Given the description of an element on the screen output the (x, y) to click on. 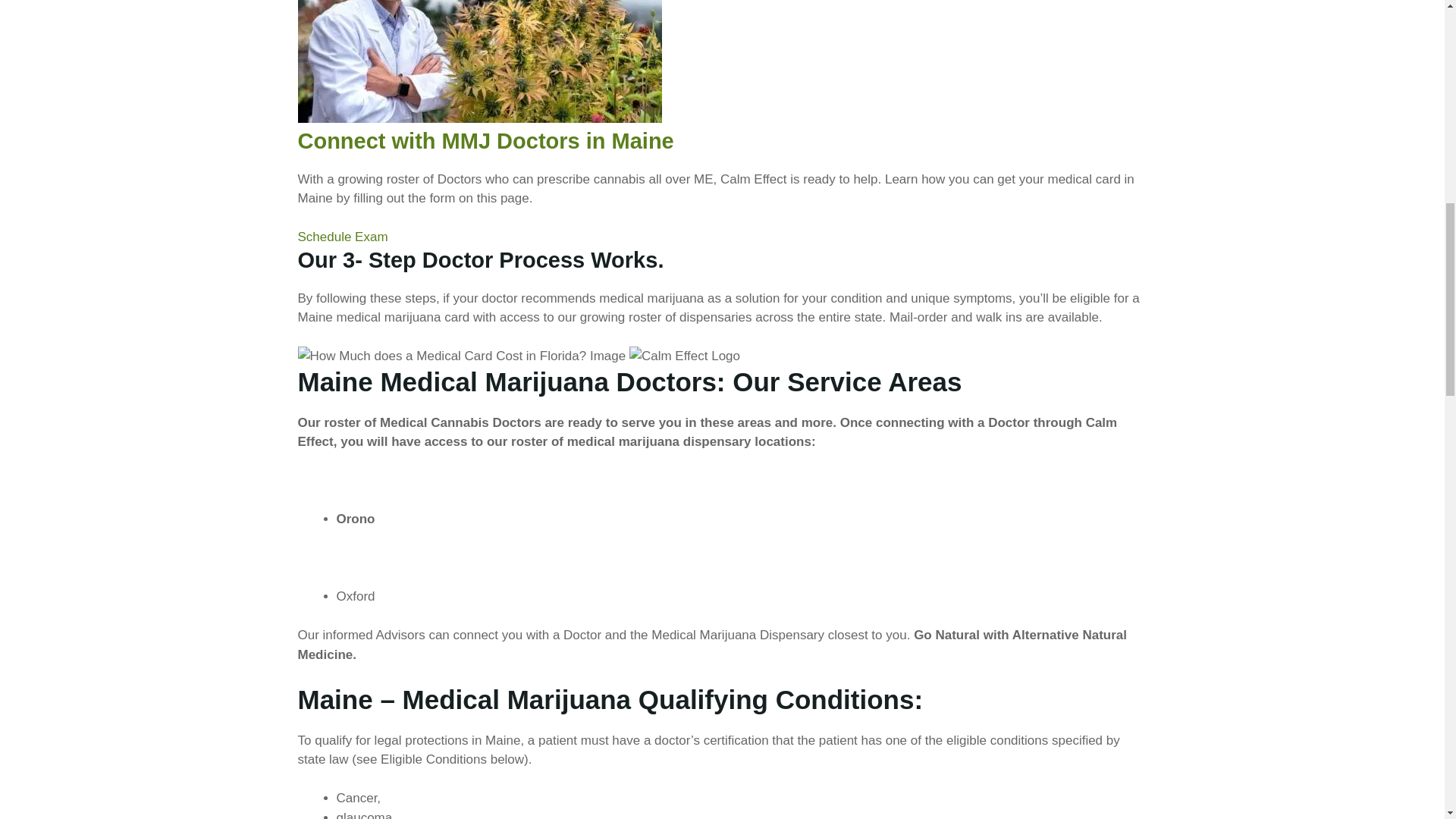
Adult male physician standing next to cannabis plant (479, 61)
Medical marijuana dispensary (461, 356)
Schedule Exam (342, 237)
calmeffect logo 0104 (683, 356)
Connect with MMJ Doctors in Maine (484, 140)
